Given the description of an element on the screen output the (x, y) to click on. 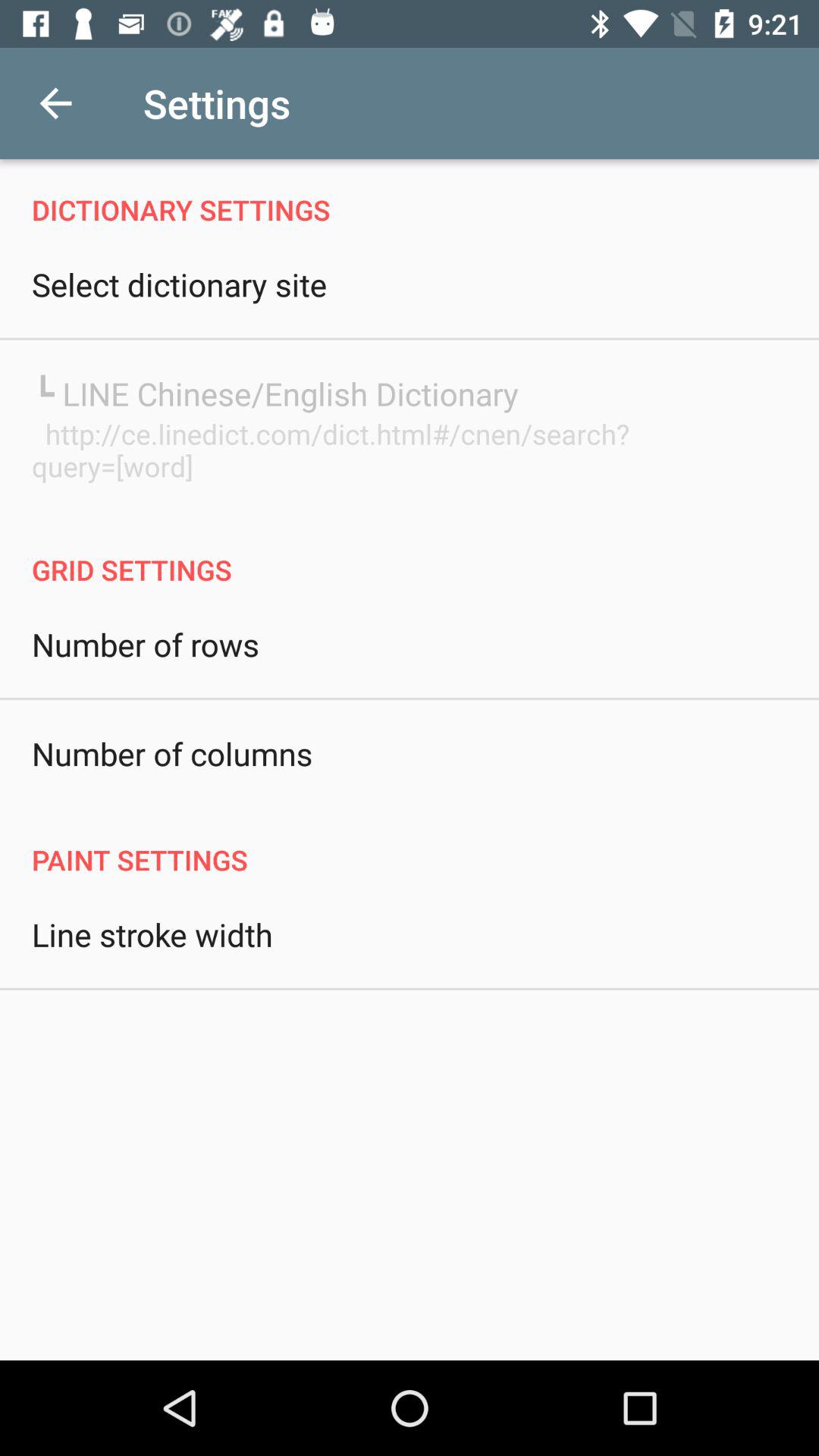
tap the select dictionary site (179, 283)
